Given the description of an element on the screen output the (x, y) to click on. 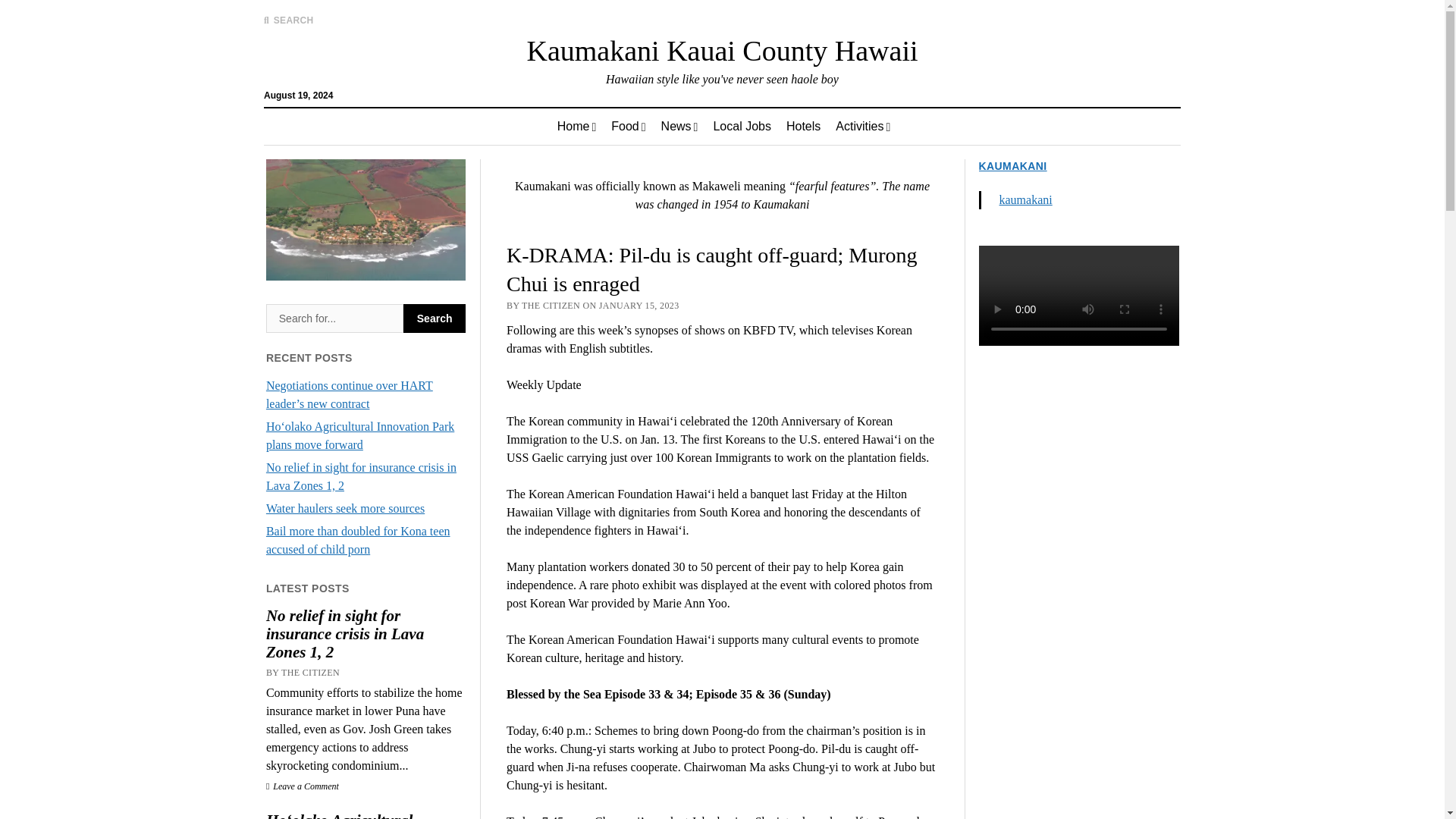
Search (945, 129)
Kaumakani Kauai County Hawaii (721, 50)
Home (576, 126)
Local Jobs (741, 126)
SEARCH (288, 20)
Hotels (803, 126)
Food (627, 126)
Search (334, 317)
Search (434, 317)
News (679, 126)
